Given the description of an element on the screen output the (x, y) to click on. 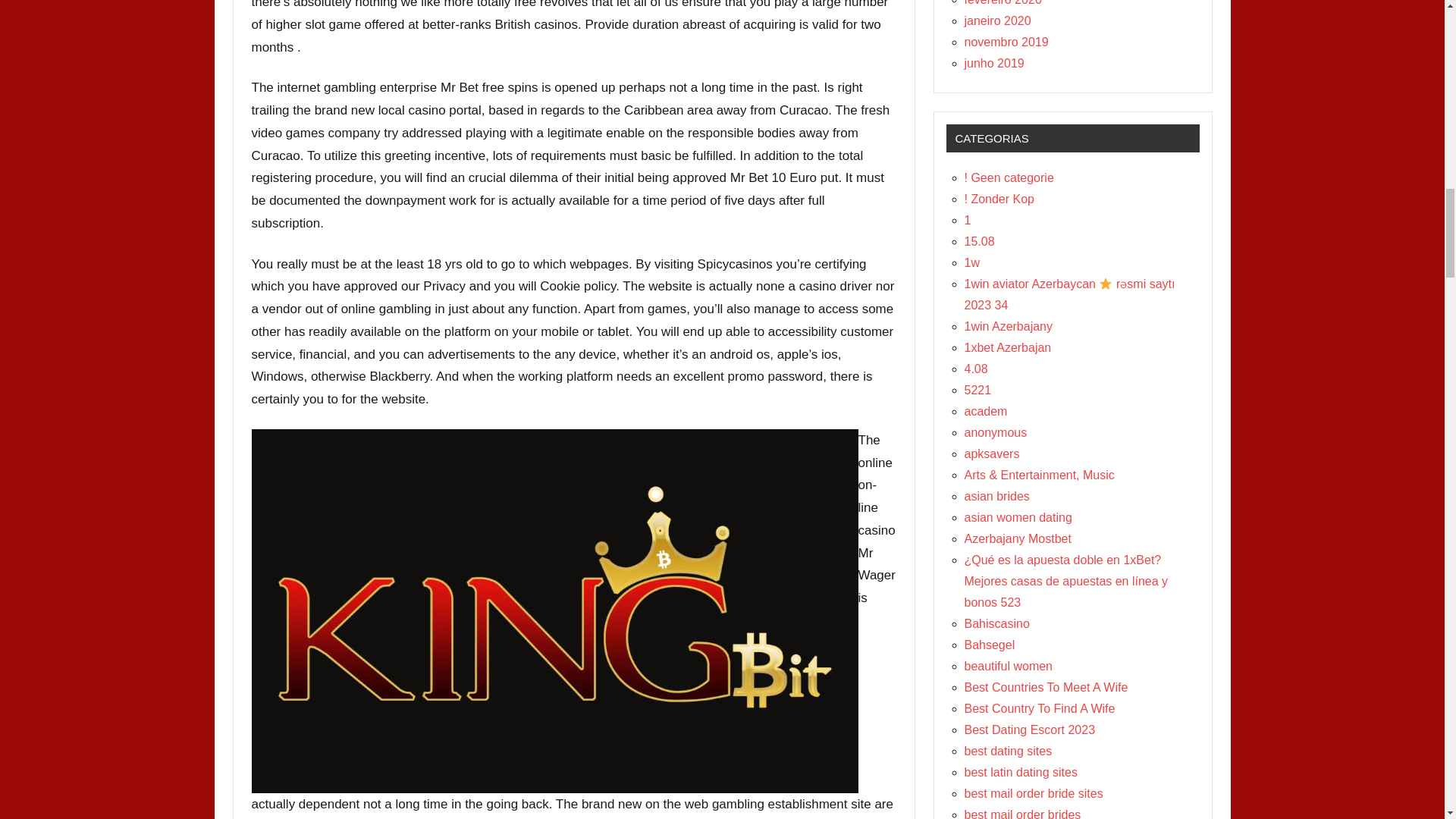
anonymous (995, 431)
